Given the description of an element on the screen output the (x, y) to click on. 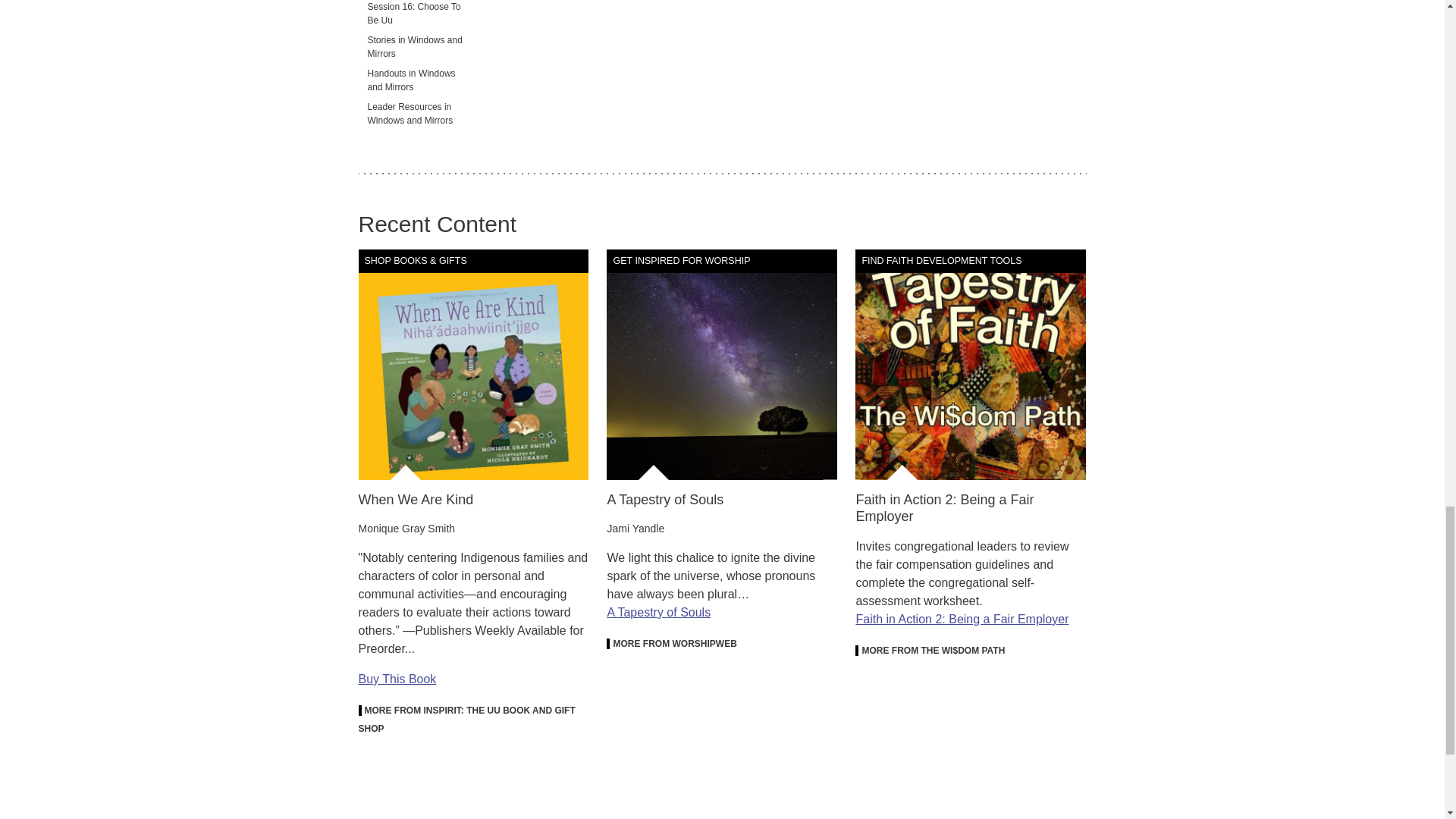
Posted by user Pexels on pixabay.com (722, 364)
